Given the description of an element on the screen output the (x, y) to click on. 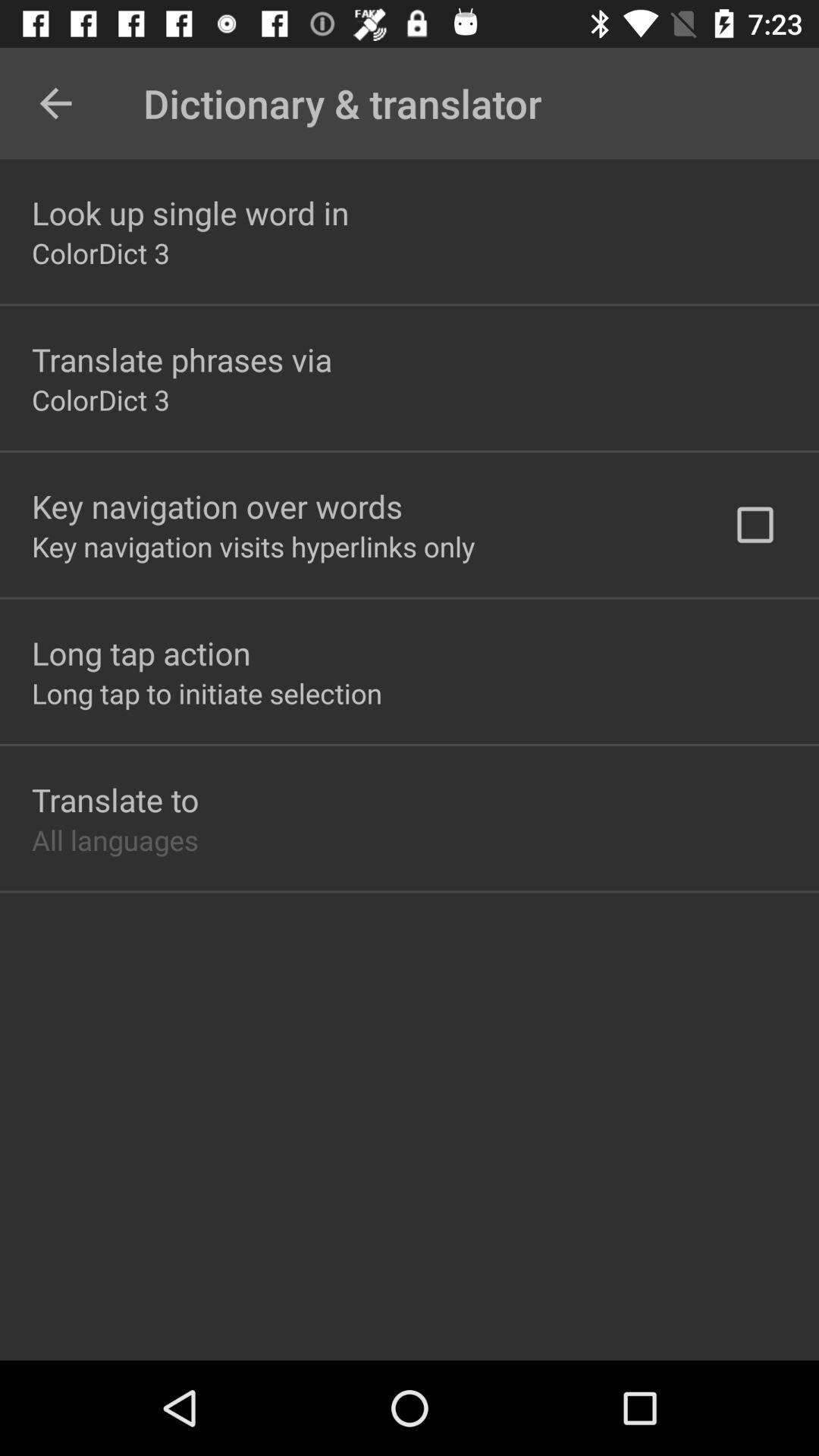
jump to translate phrases via (181, 359)
